Given the description of an element on the screen output the (x, y) to click on. 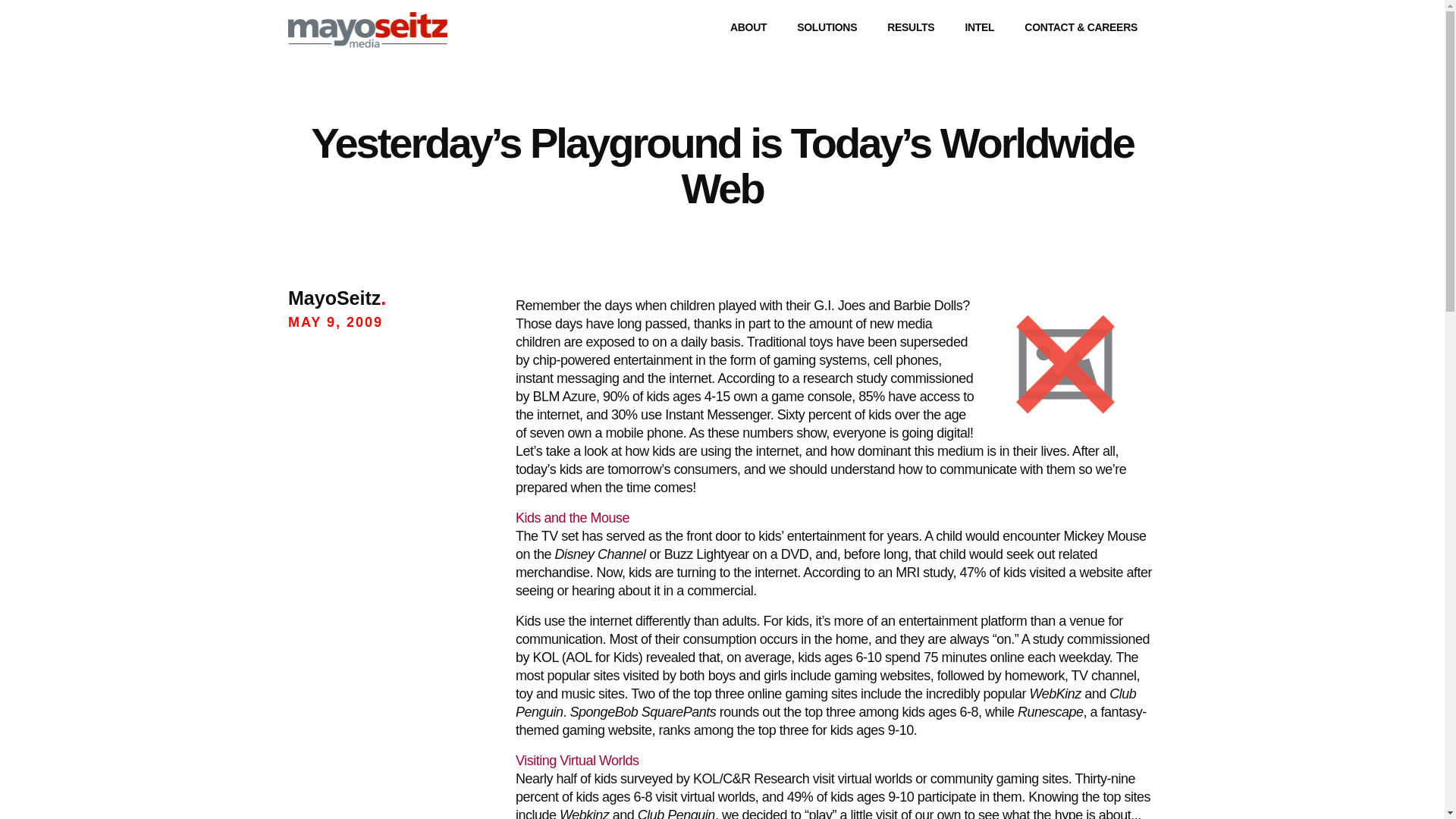
SOLUTIONS (829, 27)
INTEL (981, 27)
ABOUT (750, 27)
RESULTS (912, 27)
